Given the description of an element on the screen output the (x, y) to click on. 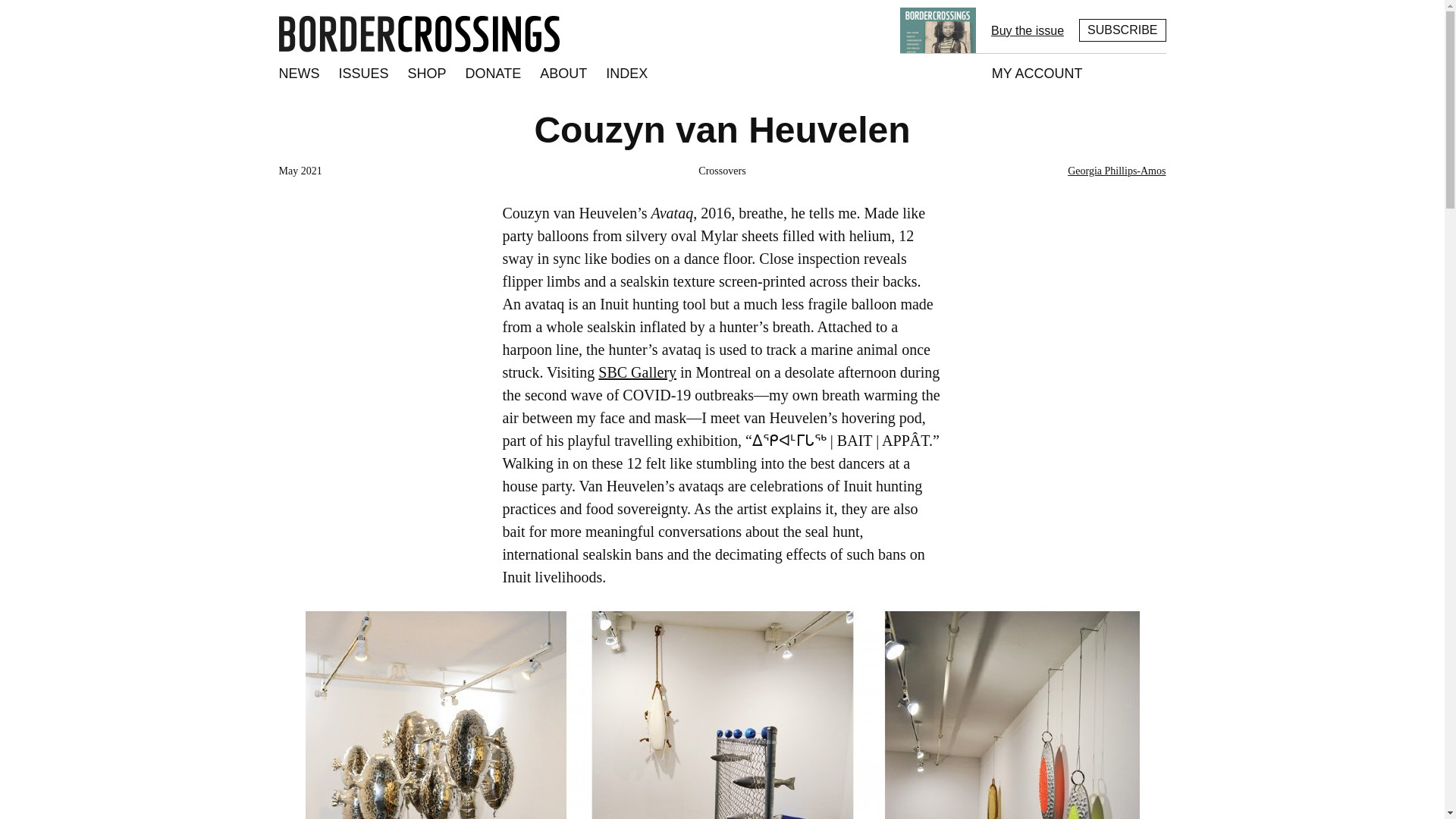
ABOUT (563, 73)
SUBSCRIBE (1122, 29)
Buy the issue (1027, 30)
MY ACCOUNT (1037, 73)
SHOP (427, 73)
INDEX (626, 73)
SBC Gallery (637, 371)
Georgia Phillips-Amos (1116, 170)
NEWS (298, 73)
ISSUES (363, 73)
